Given the description of an element on the screen output the (x, y) to click on. 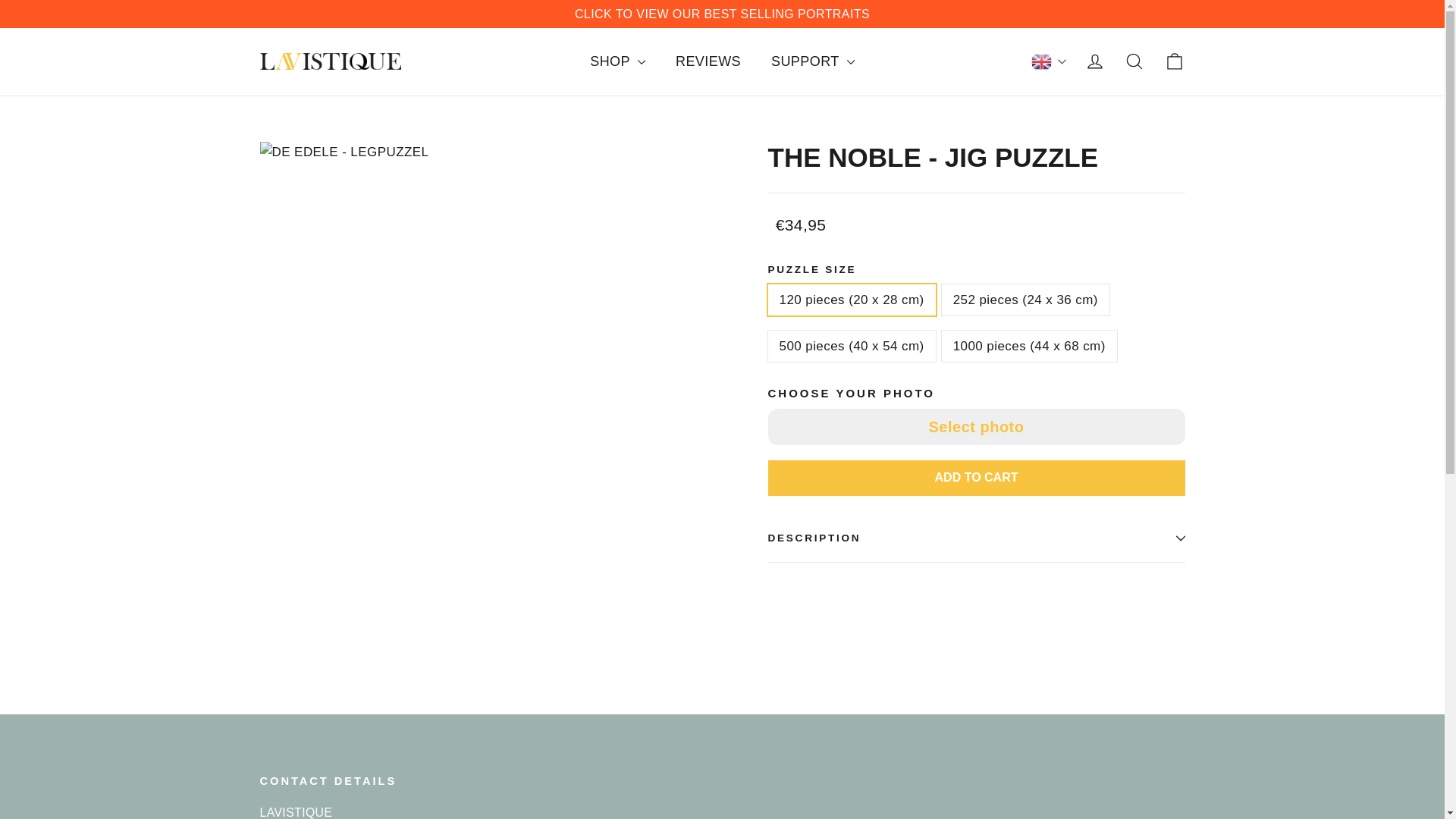
SHOP (618, 61)
REVIEWS (708, 61)
SUPPORT (812, 61)
